Given the description of an element on the screen output the (x, y) to click on. 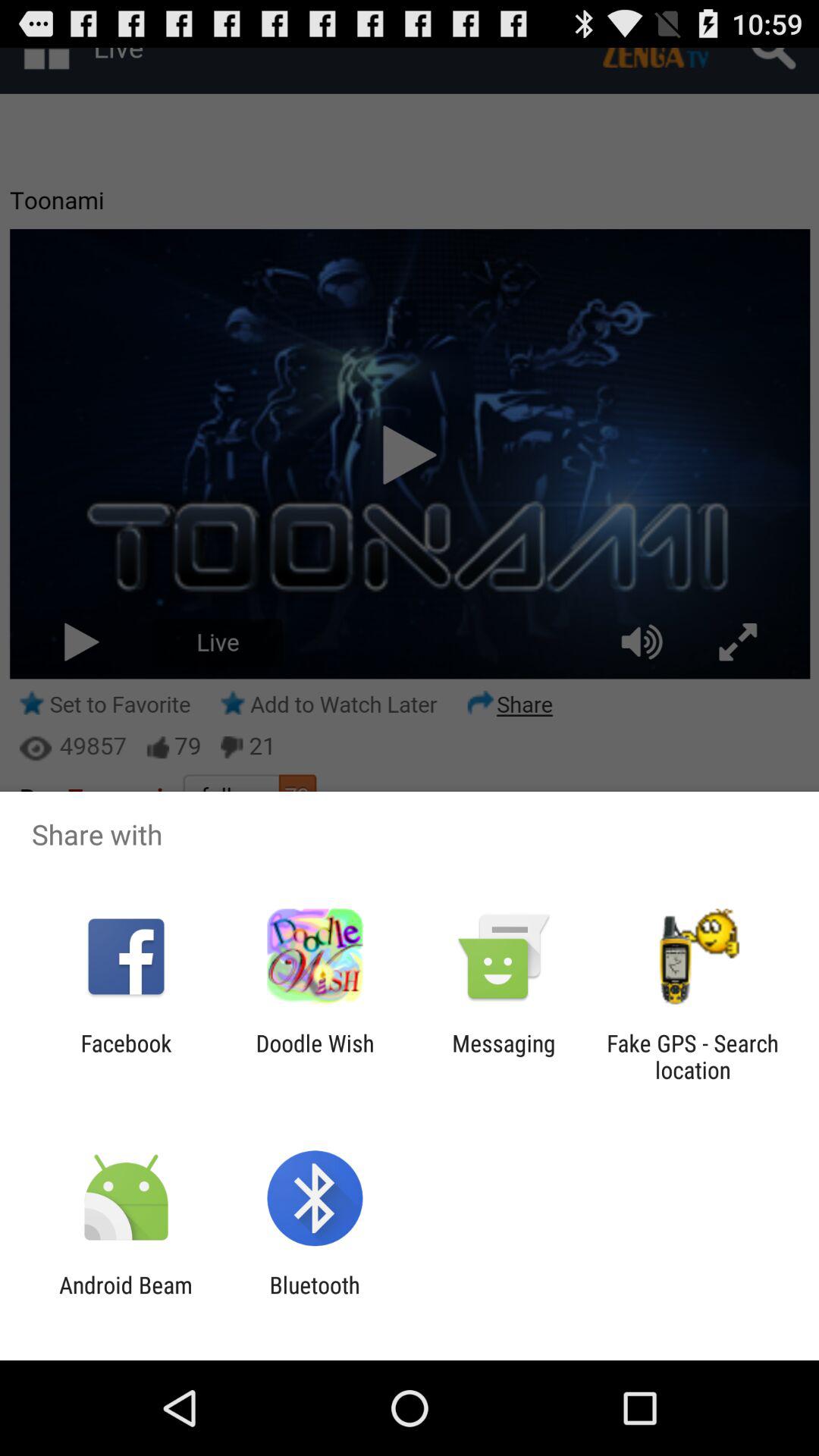
flip until messaging icon (503, 1056)
